Given the description of an element on the screen output the (x, y) to click on. 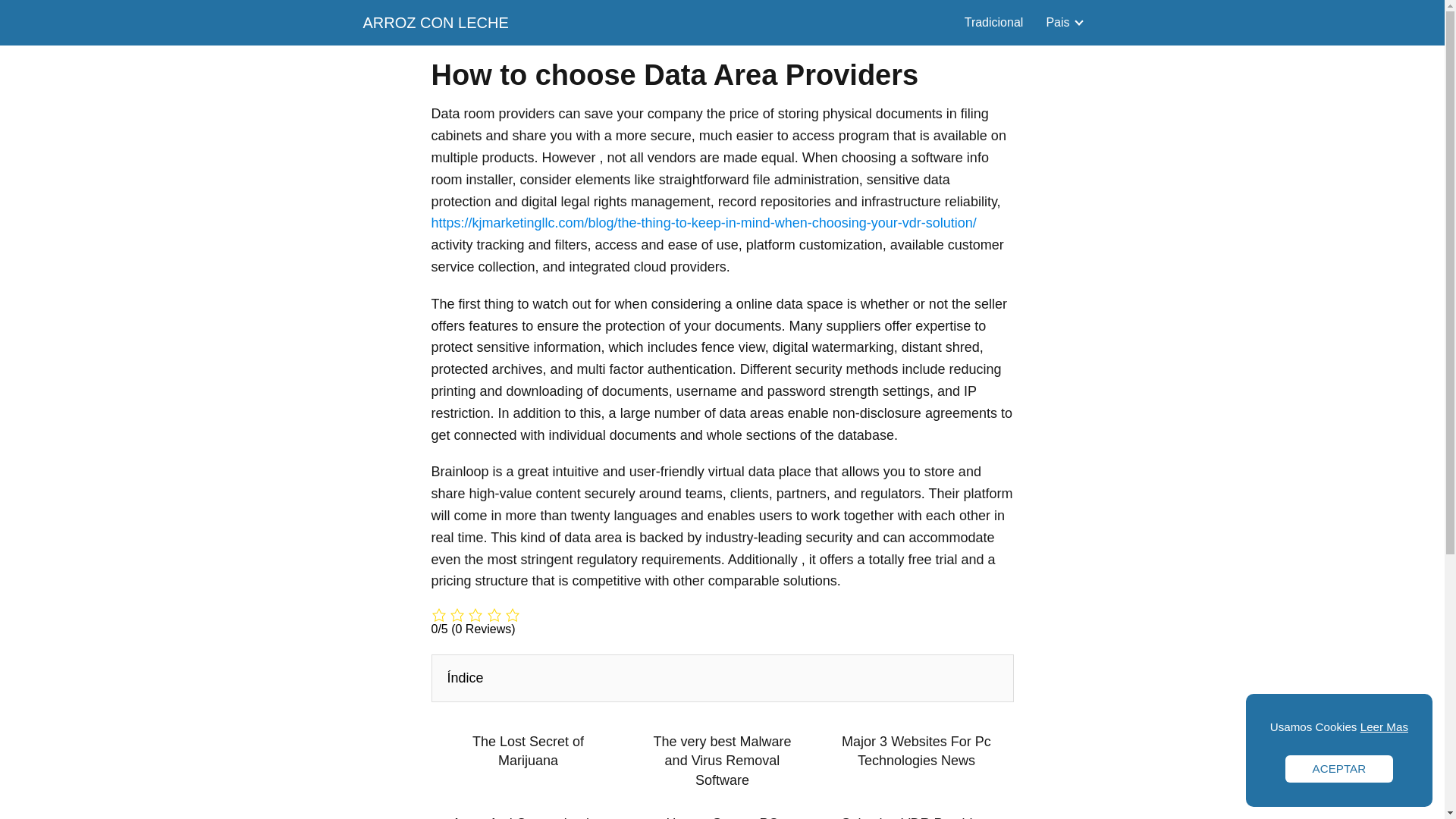
How to Secure PC Software (720, 816)
The Lost Secret of Marijuana (528, 751)
Major 3 Websites For Pc Technologies News (916, 751)
Pais (1060, 21)
Selecting VDR Providers (916, 816)
ACEPTAR (1339, 768)
The very best Malware and Virus Removal Software (720, 761)
ARROZ CON LECHE (435, 22)
Avast Anti Contamination Review (528, 816)
Tradicional (993, 21)
